Given the description of an element on the screen output the (x, y) to click on. 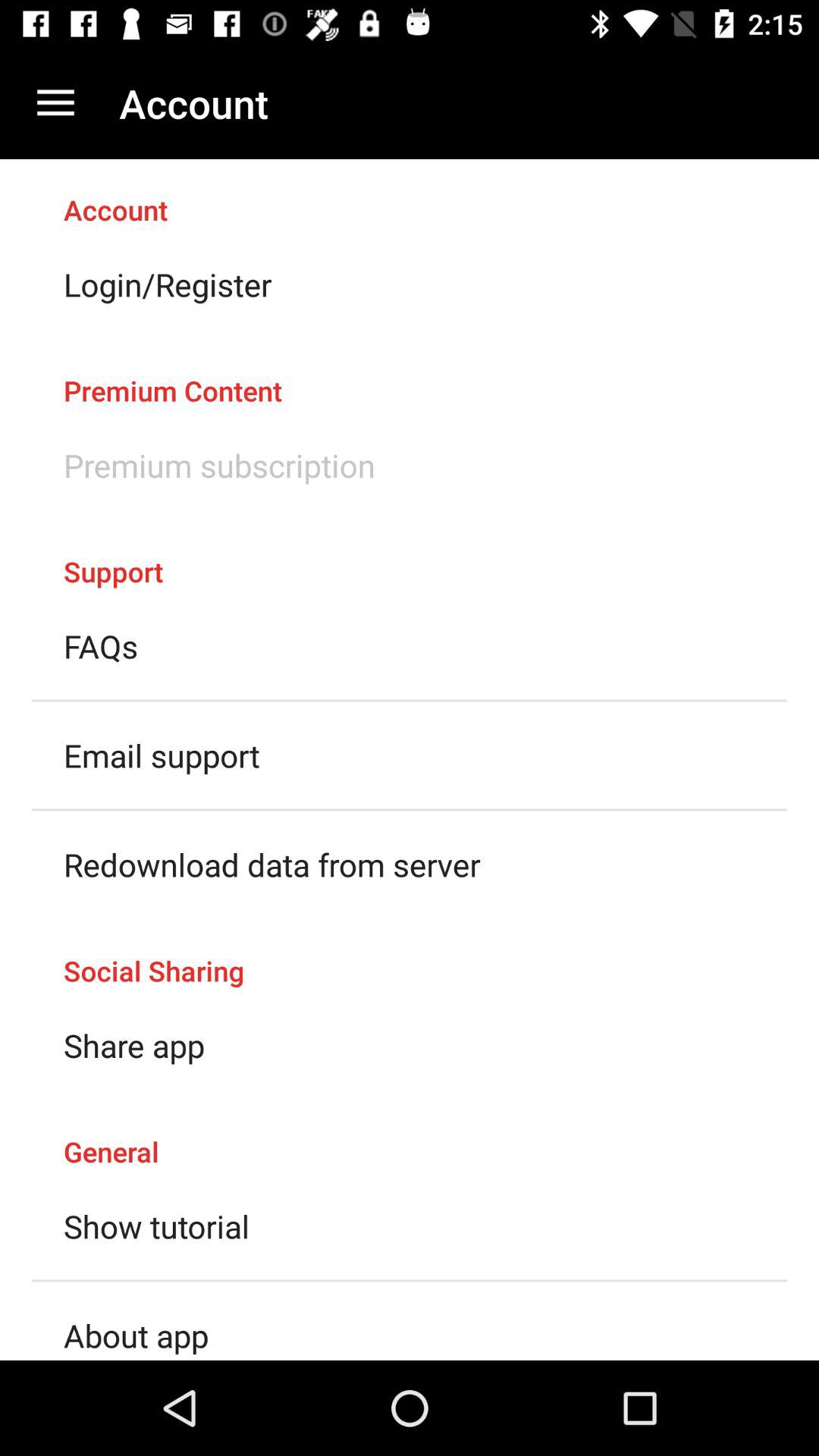
scroll to social sharing icon (409, 954)
